Given the description of an element on the screen output the (x, y) to click on. 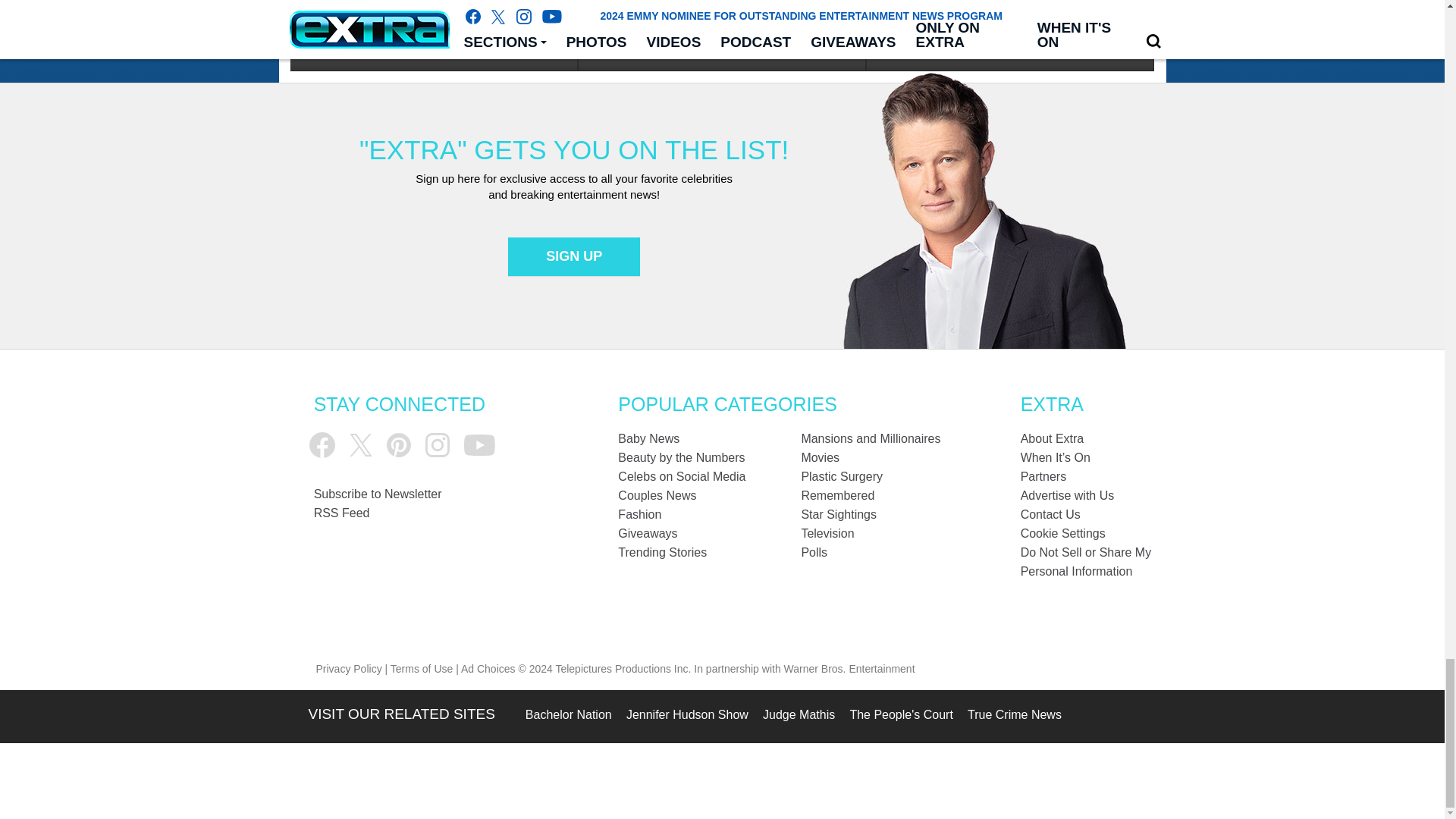
Twitter (360, 445)
Pinterest (398, 445)
YouTube (479, 445)
Facebook (321, 444)
Instagram (437, 445)
